Given the description of an element on the screen output the (x, y) to click on. 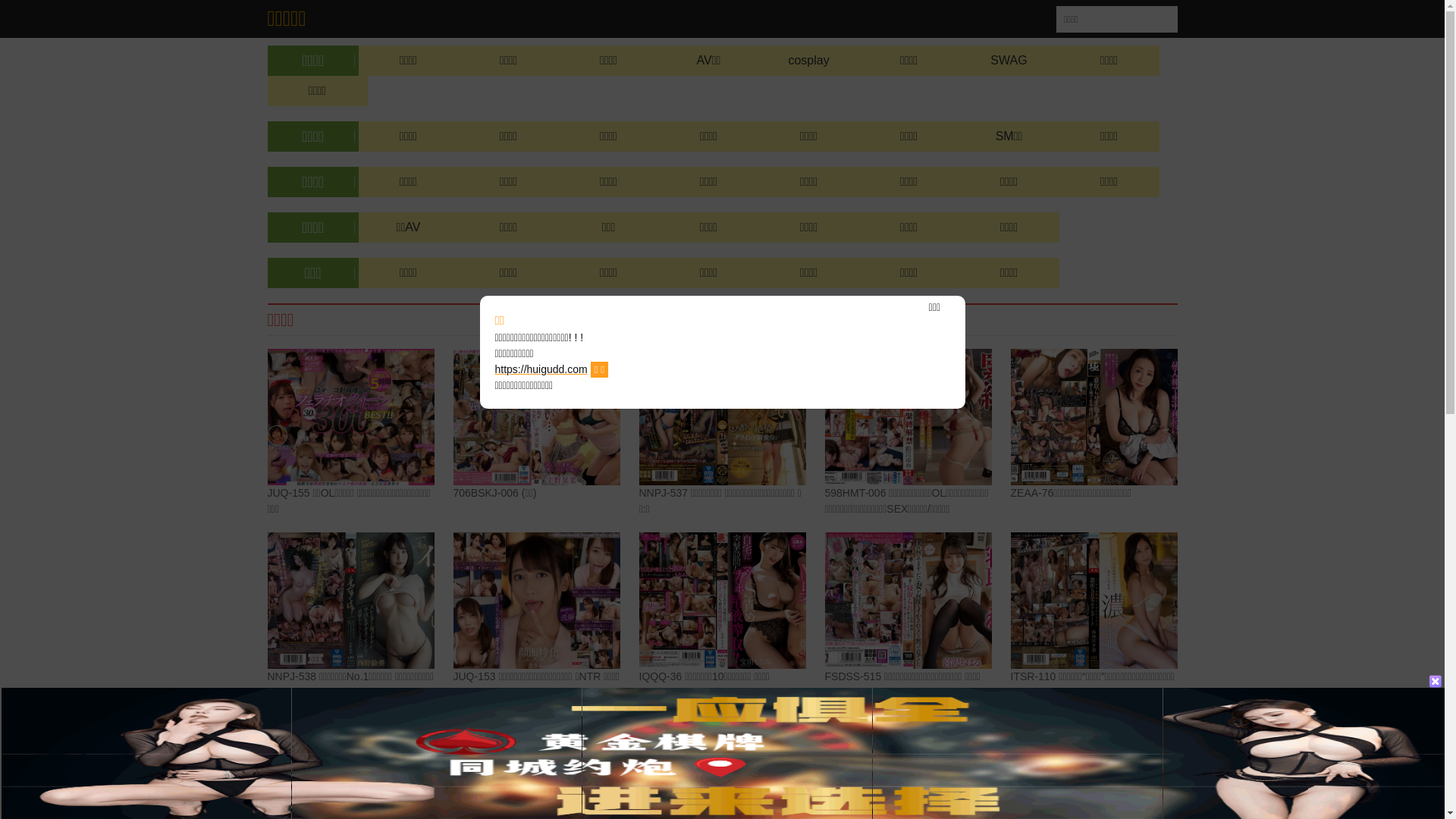
https://huigudd.com Element type: text (540, 369)
SWAG Element type: text (1008, 60)
cosplay Element type: text (808, 60)
